Given the description of an element on the screen output the (x, y) to click on. 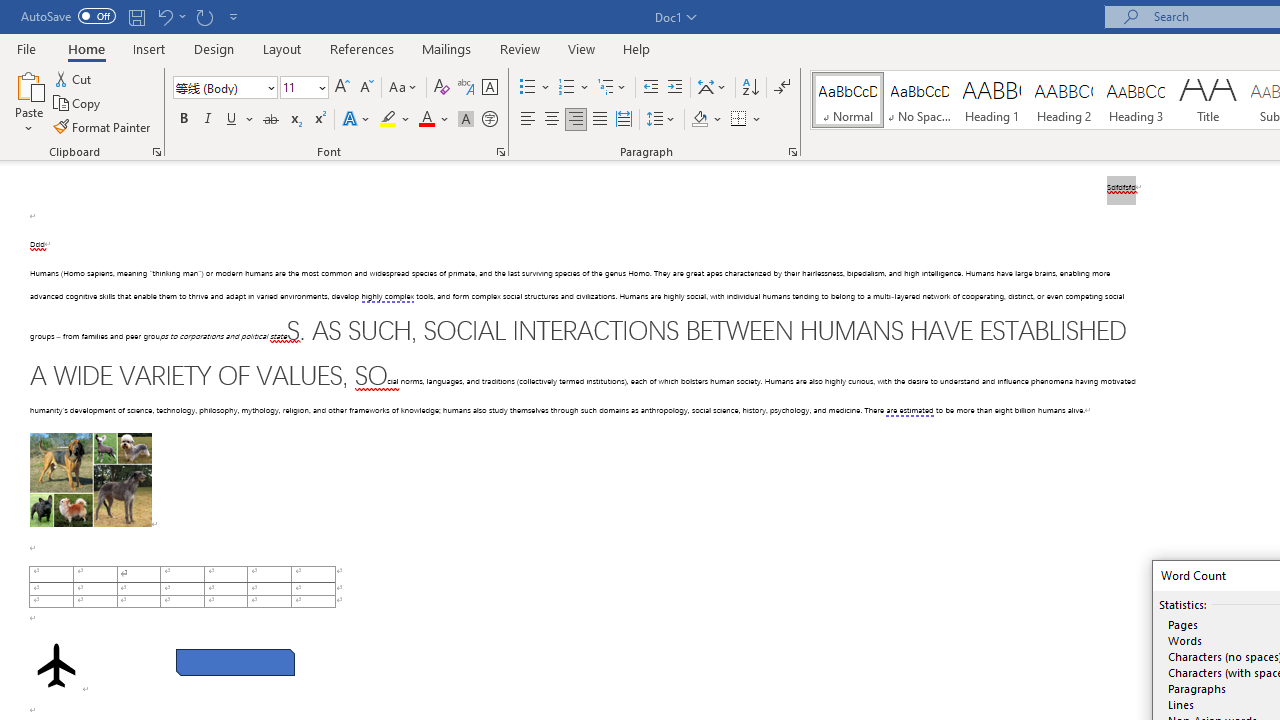
Rectangle: Diagonal Corners Snipped 2 (235, 662)
